Given the description of an element on the screen output the (x, y) to click on. 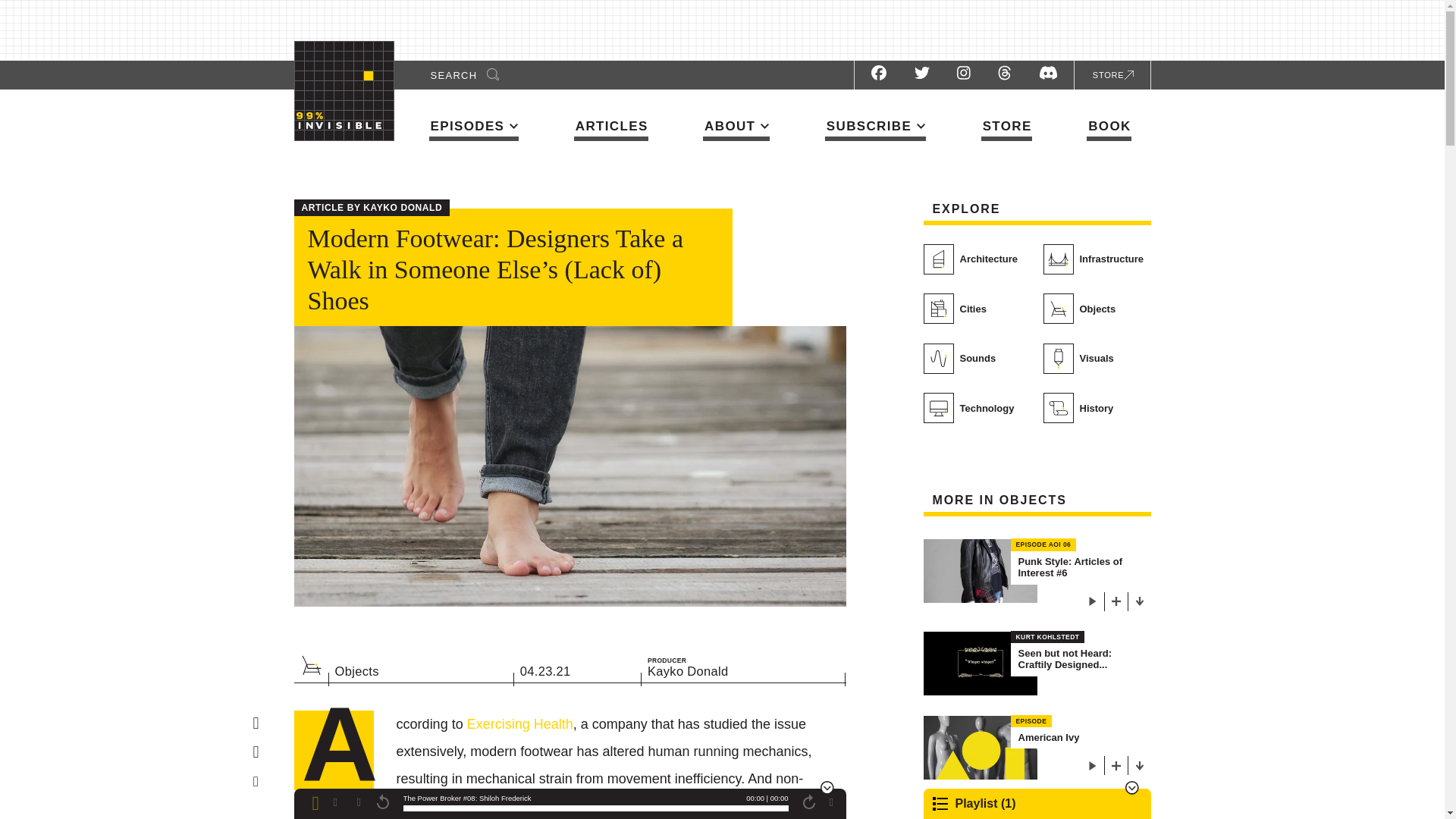
ABOUT (736, 128)
STORE (1109, 74)
SUBSCRIBE (875, 128)
Objects (311, 664)
STORE (1006, 129)
Search for: (458, 74)
ARTICLES (610, 129)
BOOK (1108, 129)
